Given the description of an element on the screen output the (x, y) to click on. 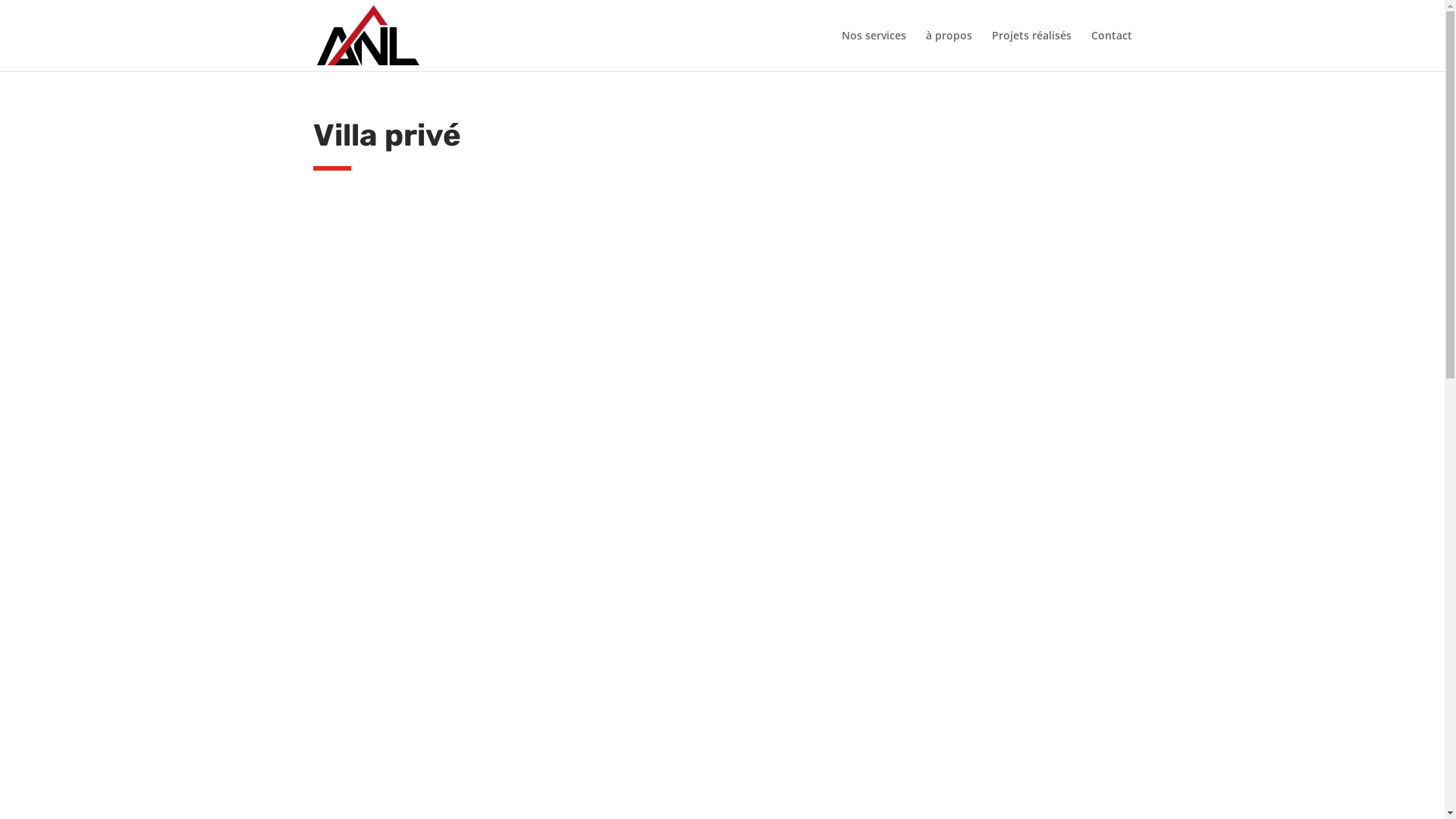
Nos services Element type: text (873, 50)
Contact Element type: text (1110, 50)
. Element type: text (359, 413)
